Given the description of an element on the screen output the (x, y) to click on. 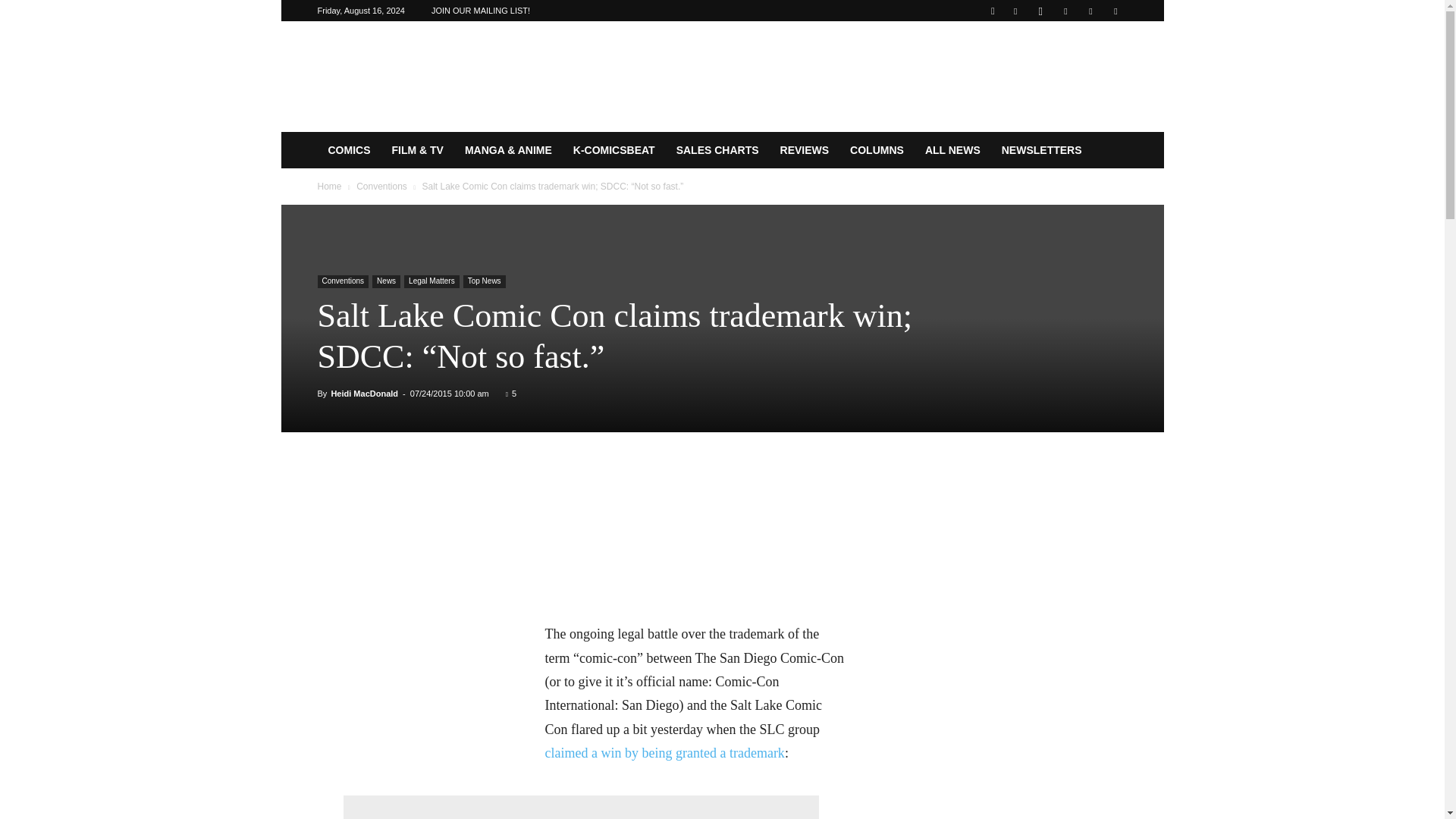
Twitter (1090, 10)
SALES CHARTS (717, 149)
JOIN OUR MAILING LIST! (479, 10)
View all posts in Conventions (381, 185)
NEWSLETTERS (1042, 149)
Youtube (1114, 10)
COLUMNS (877, 149)
COMICS (348, 149)
Facebook (1015, 10)
RSS (1065, 10)
